Given the description of an element on the screen output the (x, y) to click on. 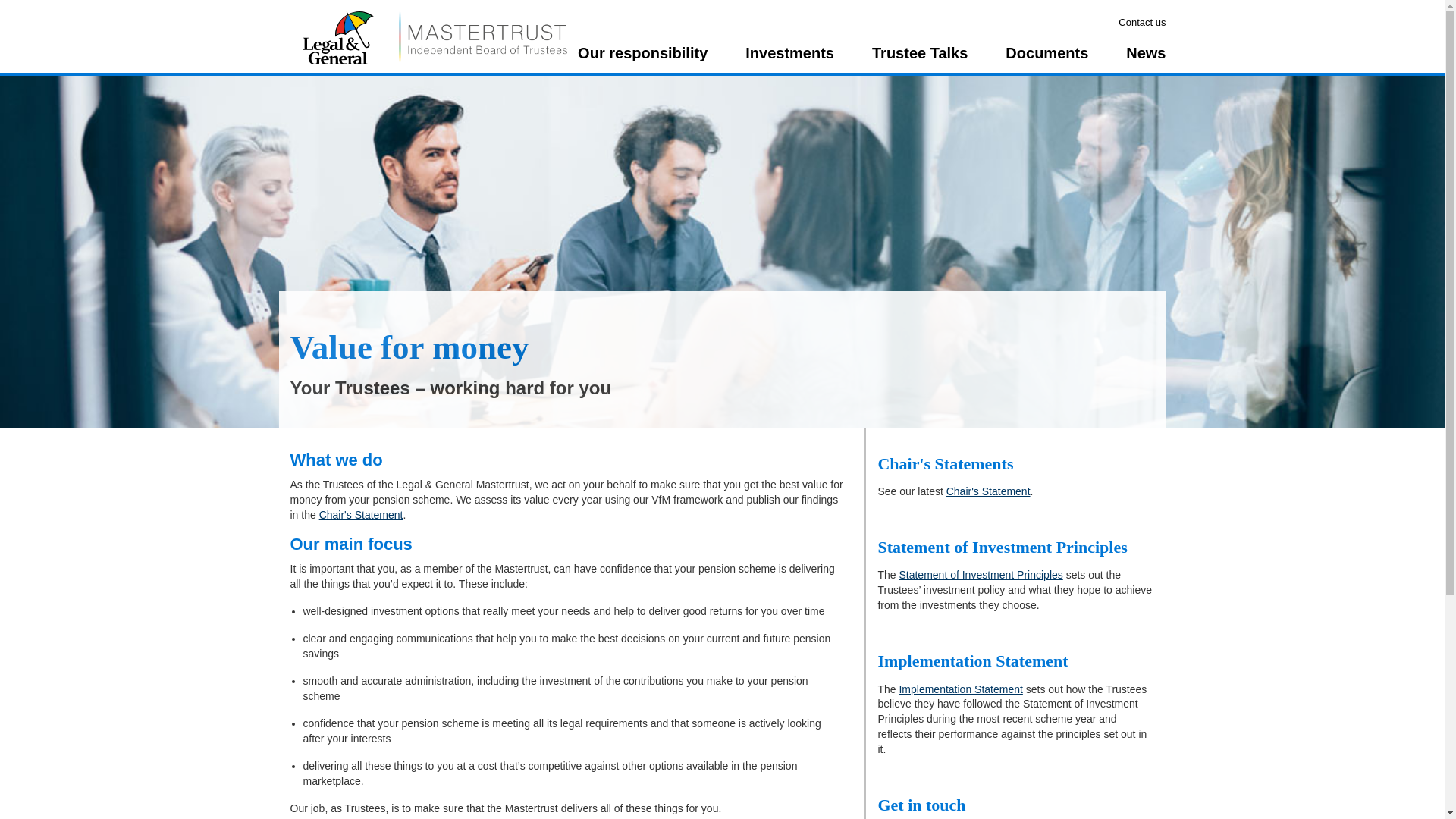
Trustee Talks (920, 58)
Contact us (1142, 21)
Our responsibility (642, 58)
Documents (1046, 58)
Investments (789, 58)
News (1145, 58)
